Given the description of an element on the screen output the (x, y) to click on. 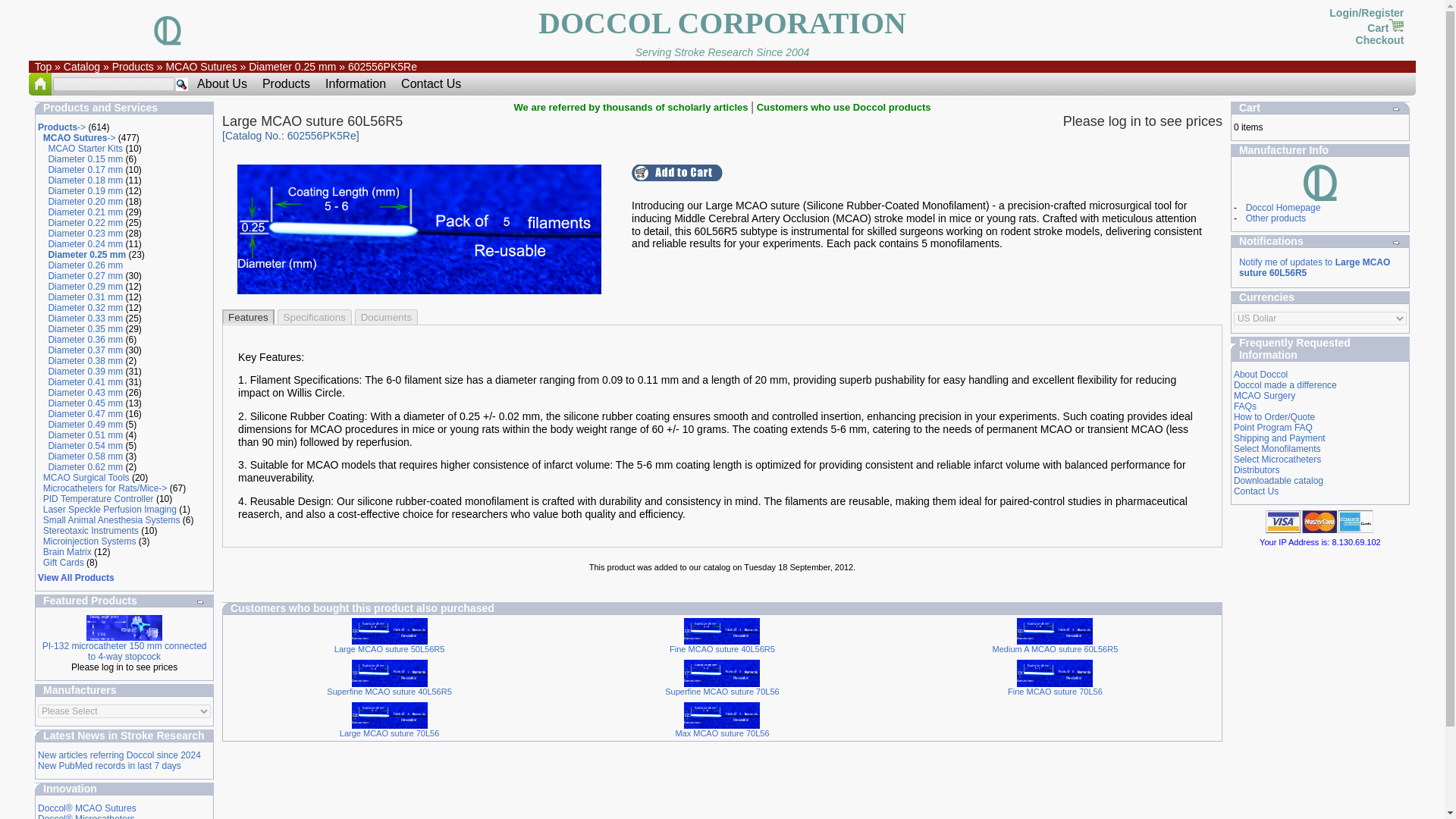
 Fine MCAO suture 40L56R5  (722, 631)
 more  (200, 602)
MCAO Sutures (200, 66)
Diameter 0.25 mm (292, 66)
 Doccol  (1320, 183)
 PI-132 microcatheter 150 mm connected to 4-way stopcock  (123, 627)
 Add to Cart  (676, 172)
About Us (221, 83)
 Max MCAO suture 70L56  (722, 715)
 Large MCAO suture 70L56  (390, 715)
 Superfine MCAO suture 70L56  (722, 673)
 Superfine MCAO suture 40L56R5  (390, 673)
Cart (1385, 28)
 Medium A MCAO suture 60L56R5  (1054, 631)
